Given the description of an element on the screen output the (x, y) to click on. 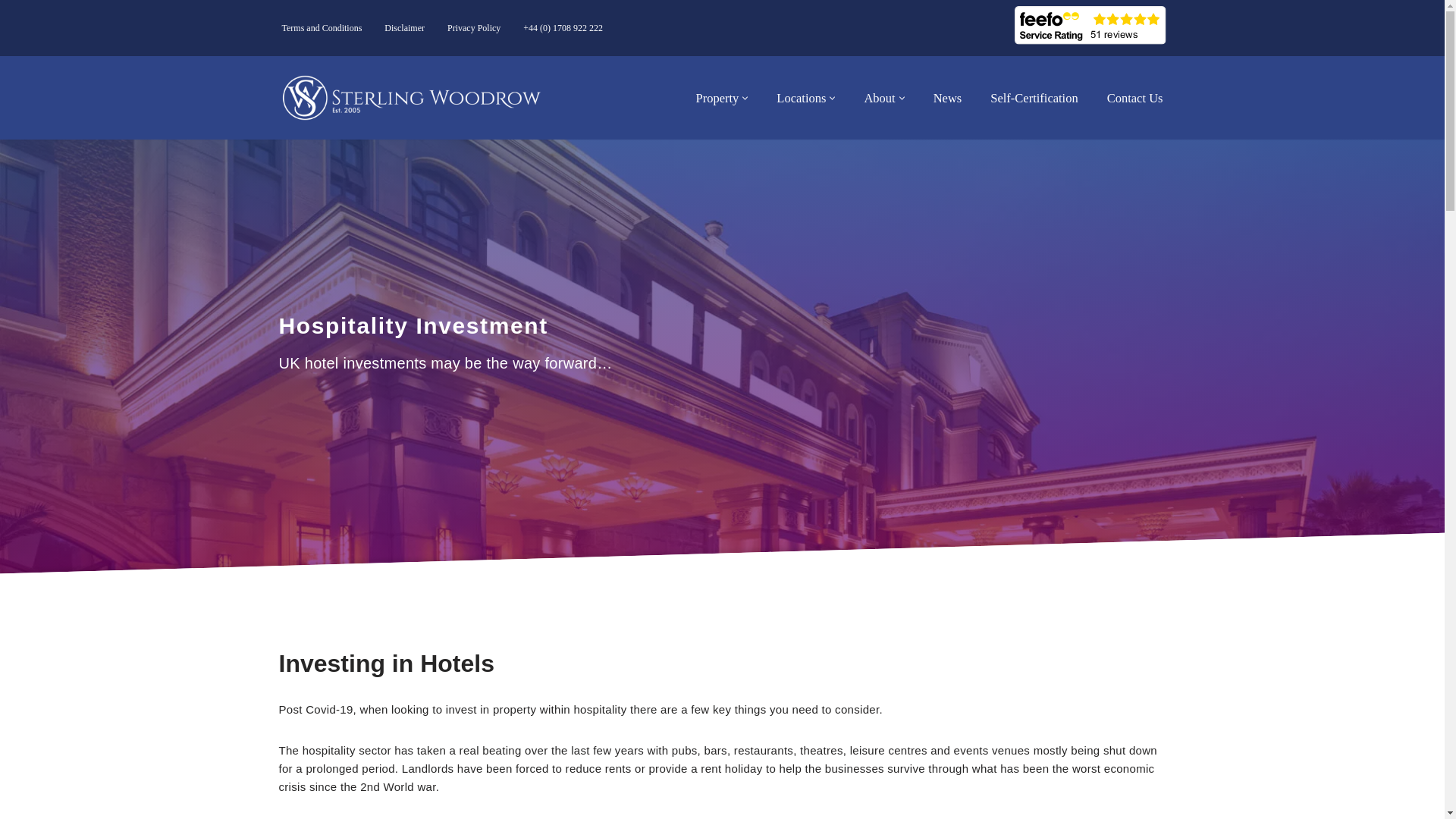
Terms and Conditions (322, 27)
Skip to content (11, 31)
Privacy Policy (473, 27)
Locations (800, 97)
About (879, 97)
Contact Us (1134, 97)
News (947, 97)
Property (717, 97)
See what our customers say about us (1090, 25)
Disclaimer (404, 27)
Self-Certification (1033, 97)
